Given the description of an element on the screen output the (x, y) to click on. 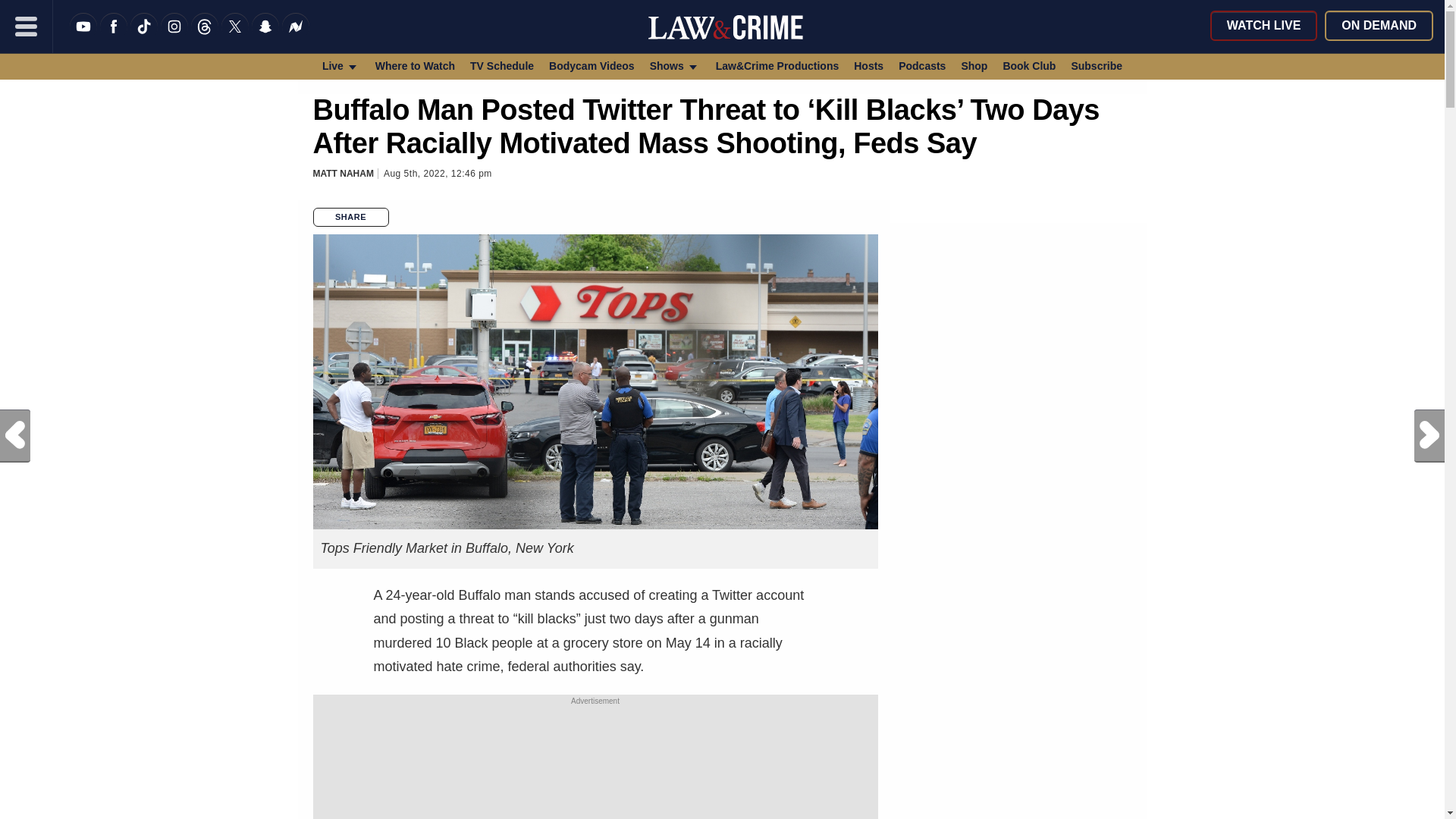
Posts by Matt Naham (342, 173)
Instagram (173, 35)
News Break (295, 35)
Like us on Facebook (114, 35)
YouTube (83, 35)
Snapchat (265, 35)
TikTok (144, 35)
Threads (204, 35)
